Given the description of an element on the screen output the (x, y) to click on. 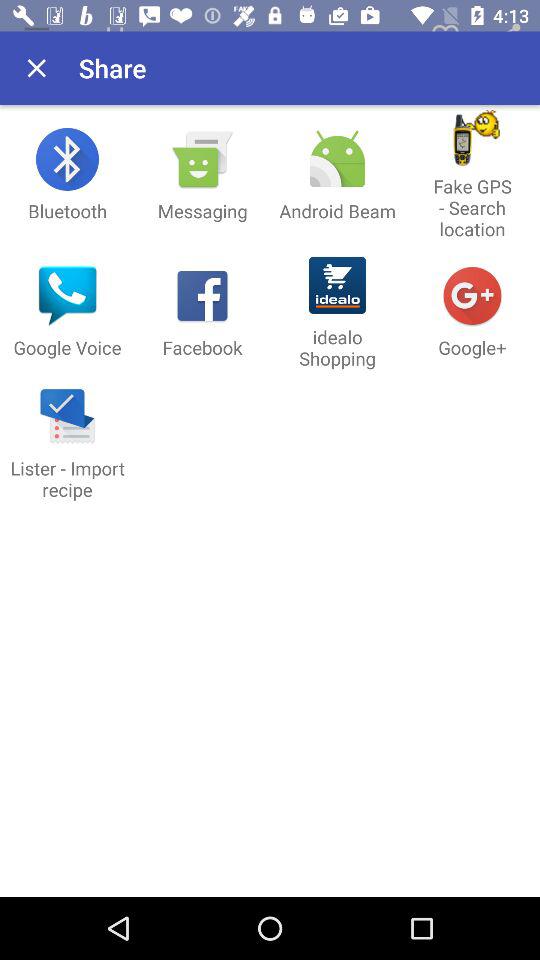
select app to the left of share app (36, 68)
